Given the description of an element on the screen output the (x, y) to click on. 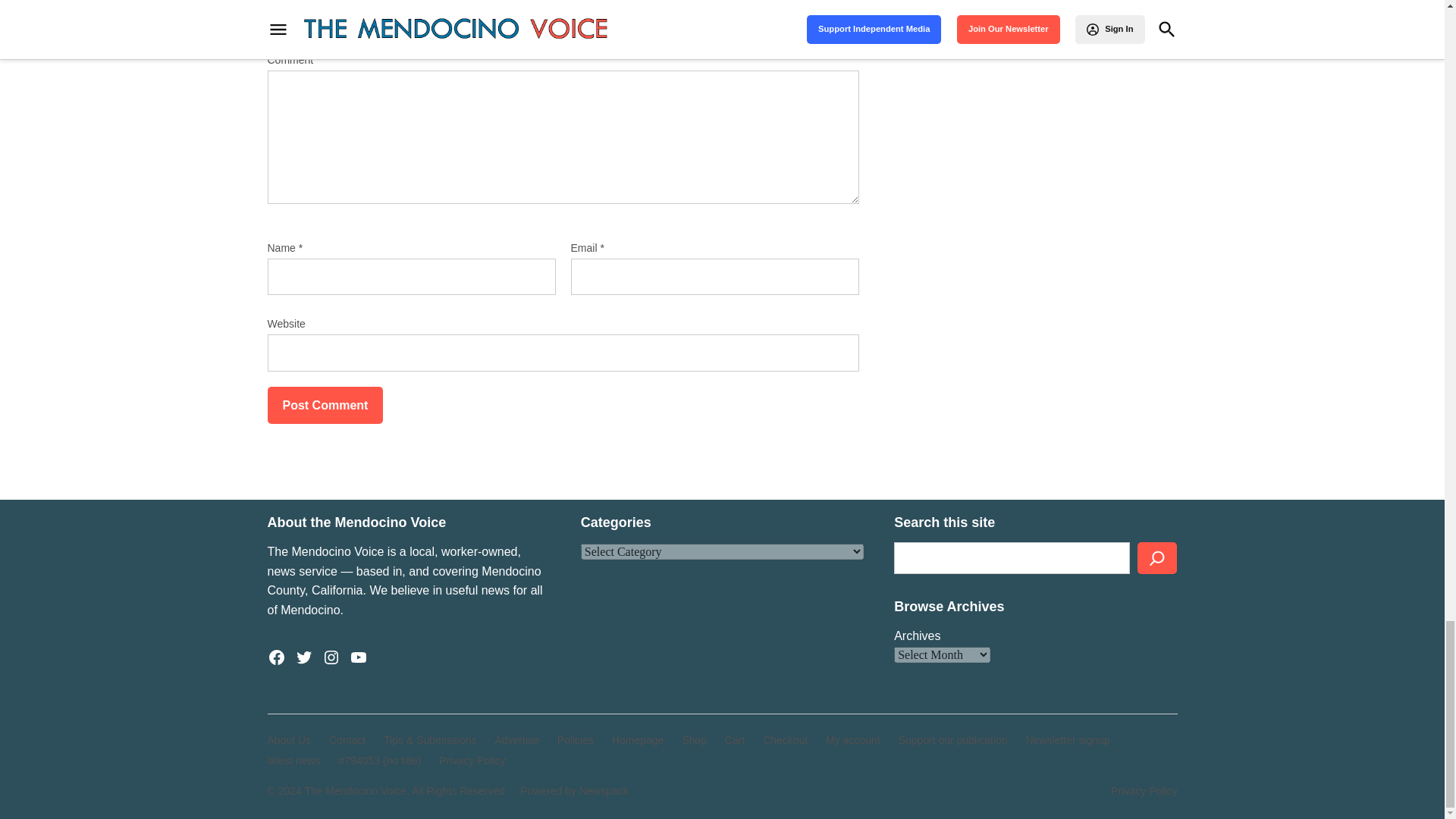
Post Comment (324, 405)
